Given the description of an element on the screen output the (x, y) to click on. 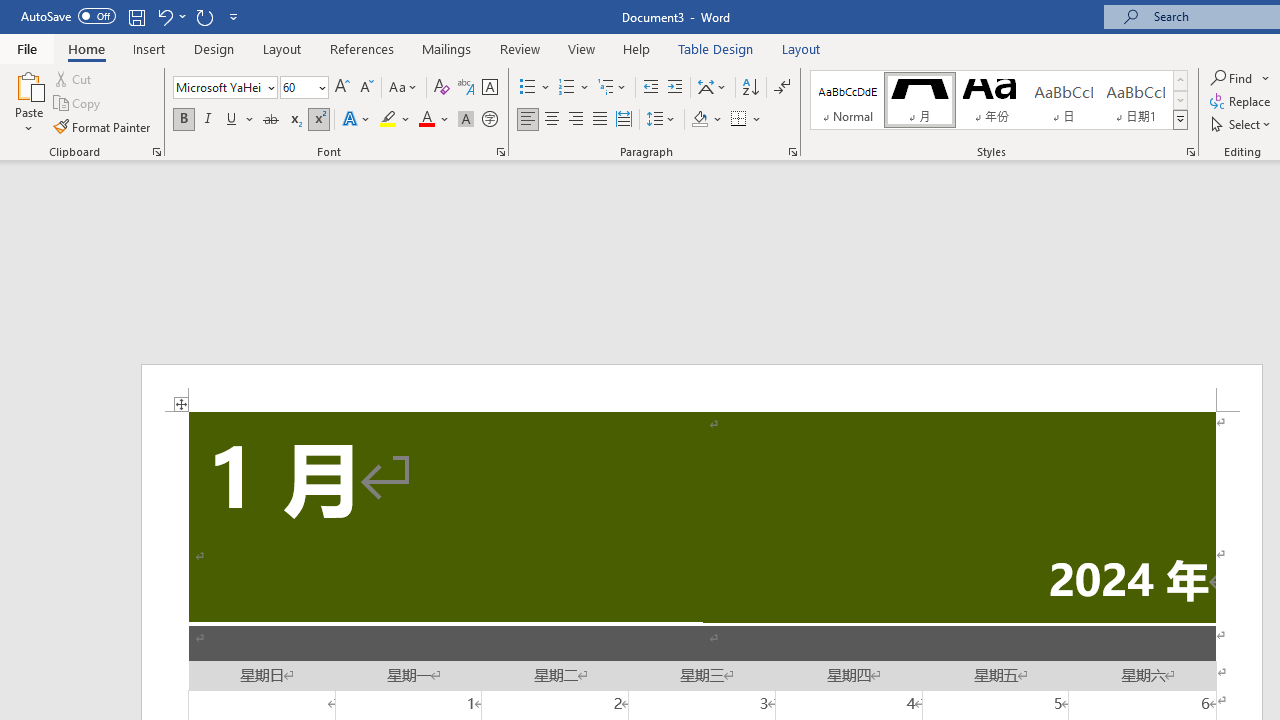
Change Case (404, 87)
Superscript (319, 119)
Font Color (434, 119)
System (10, 11)
Styles (1179, 120)
Find (1240, 78)
Find (1233, 78)
Asian Layout (712, 87)
Show/Hide Editing Marks (781, 87)
Font (218, 87)
Enclose Characters... (489, 119)
Numbering (566, 87)
Align Right (575, 119)
Design (214, 48)
